Given the description of an element on the screen output the (x, y) to click on. 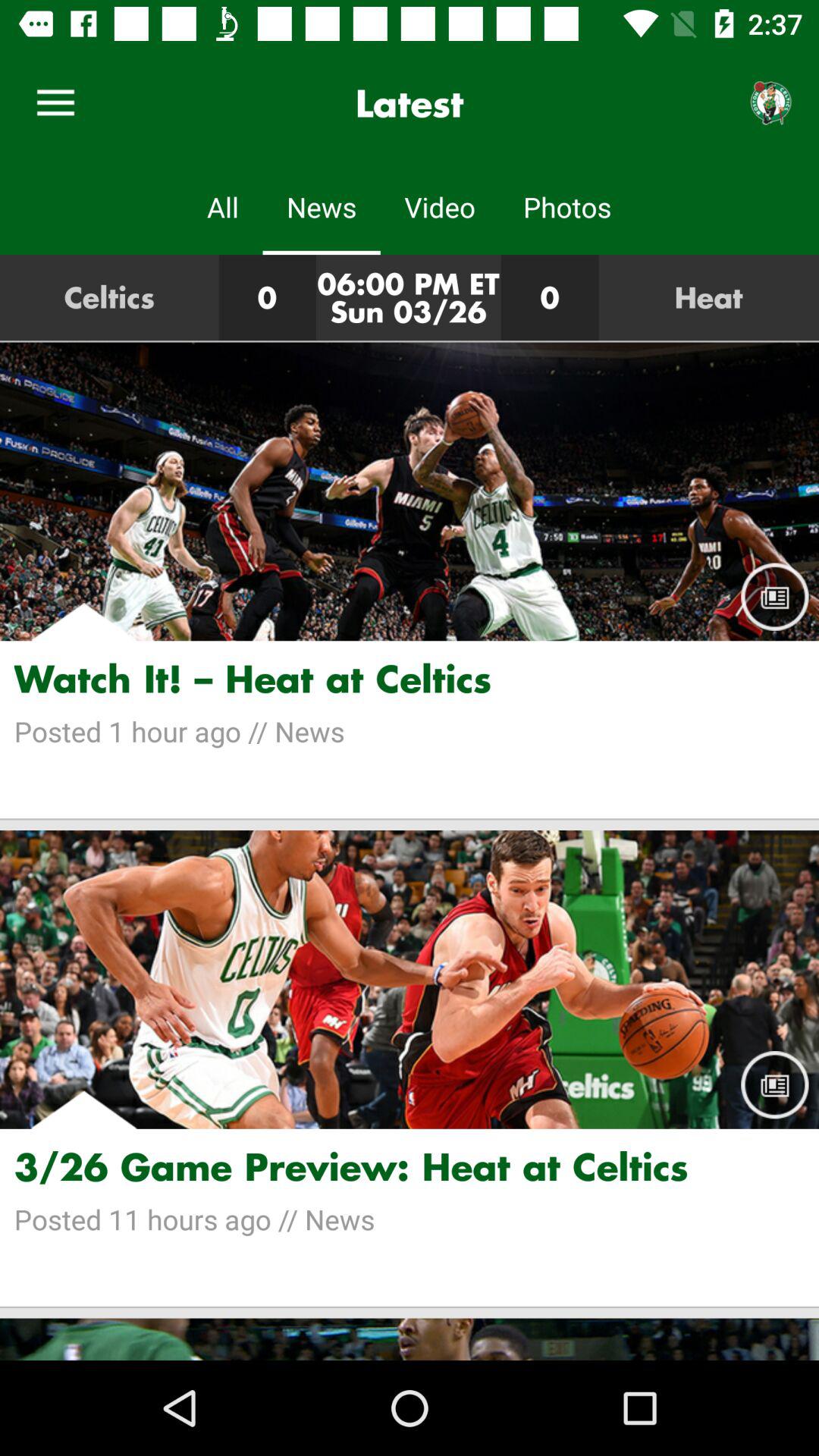
open the item next to latest (55, 103)
